Given the description of an element on the screen output the (x, y) to click on. 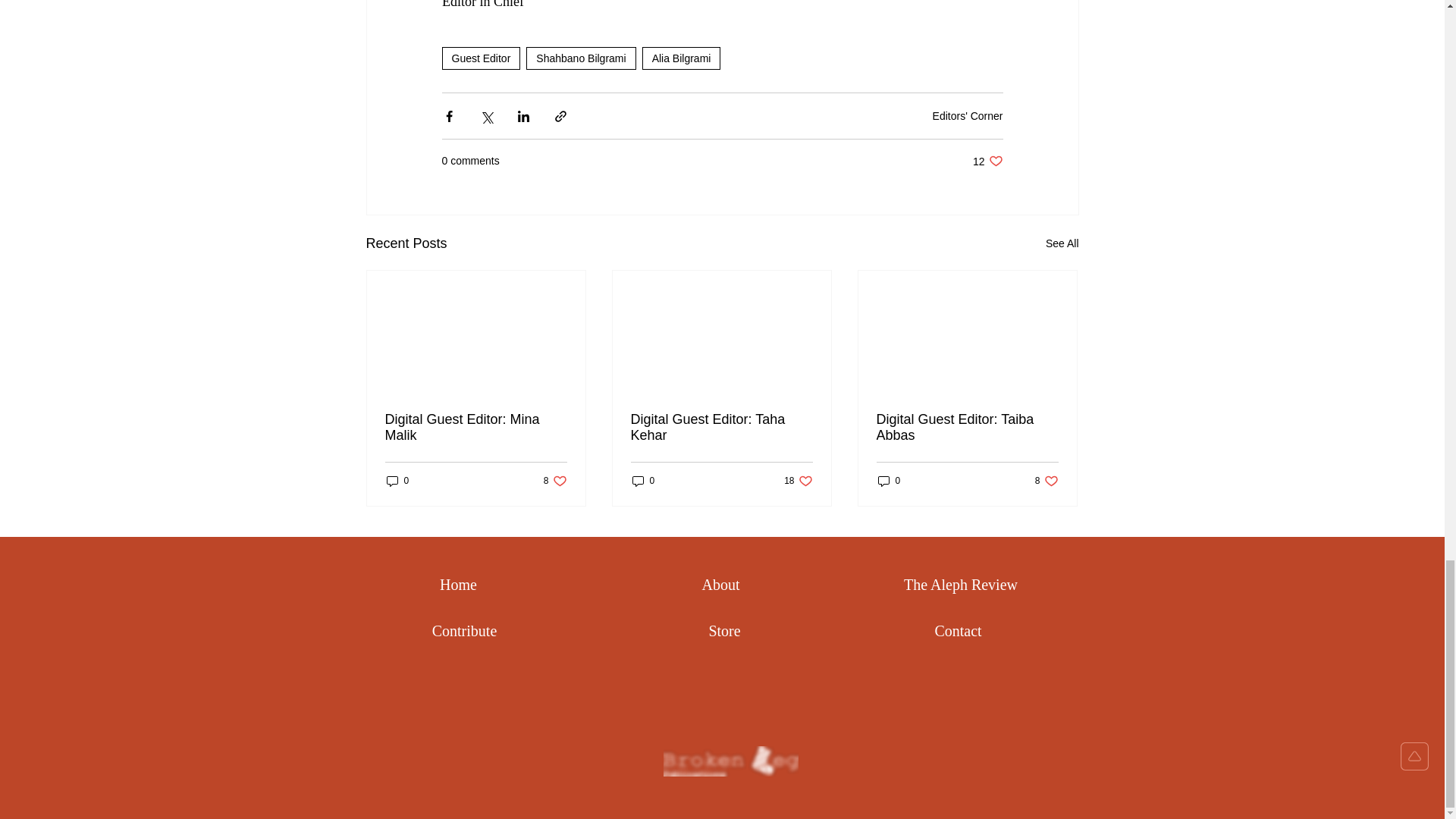
Alia Bilgrami (681, 57)
Shahbano Bilgrami (579, 57)
Digital Guest Editor: Mina Malik (987, 160)
Editors' Corner (476, 427)
0 (555, 480)
See All (968, 114)
Guest Editor (397, 480)
